Given the description of an element on the screen output the (x, y) to click on. 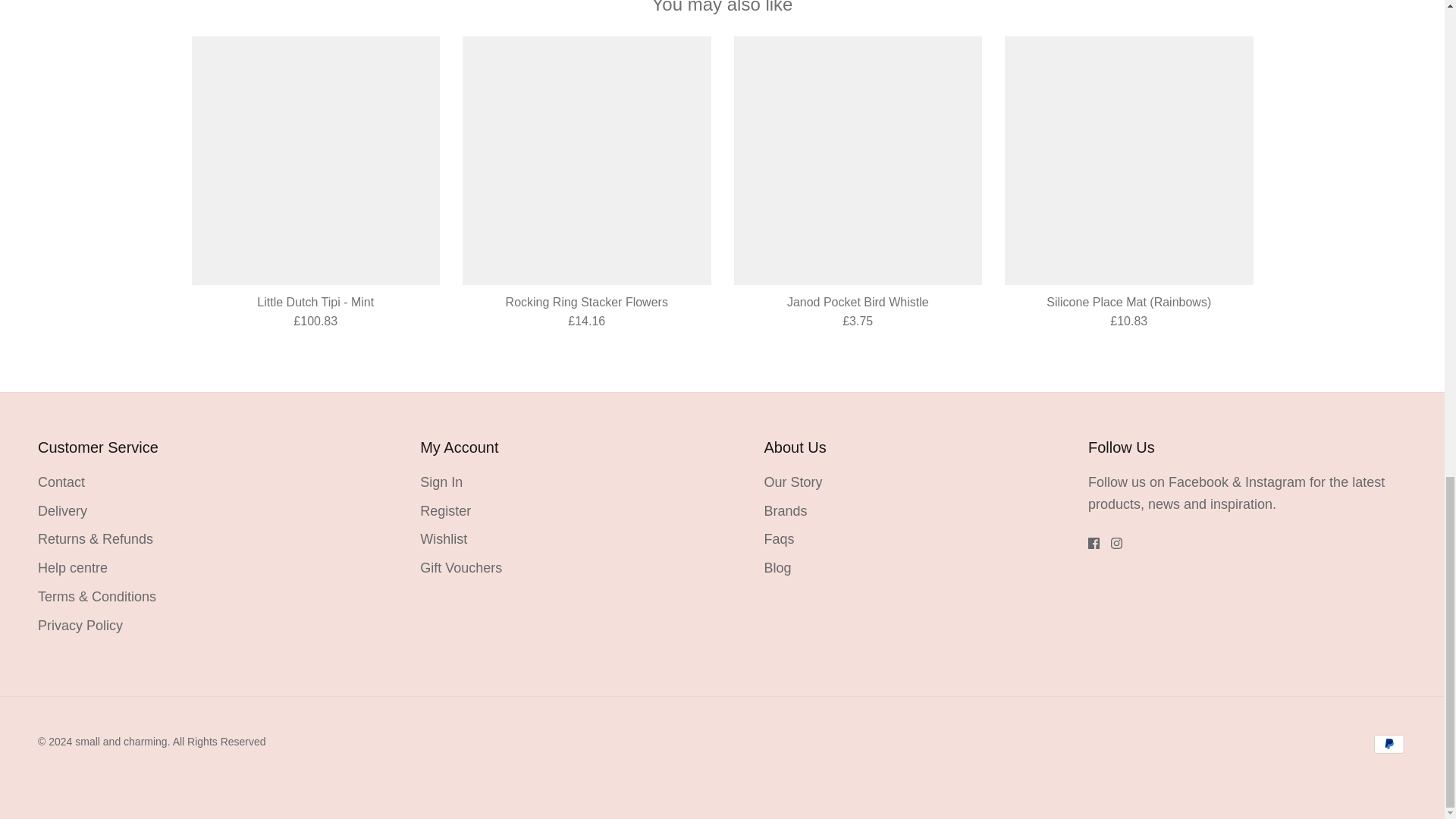
PayPal (1388, 743)
Facebook (1093, 542)
Instagram (1116, 542)
